Given the description of an element on the screen output the (x, y) to click on. 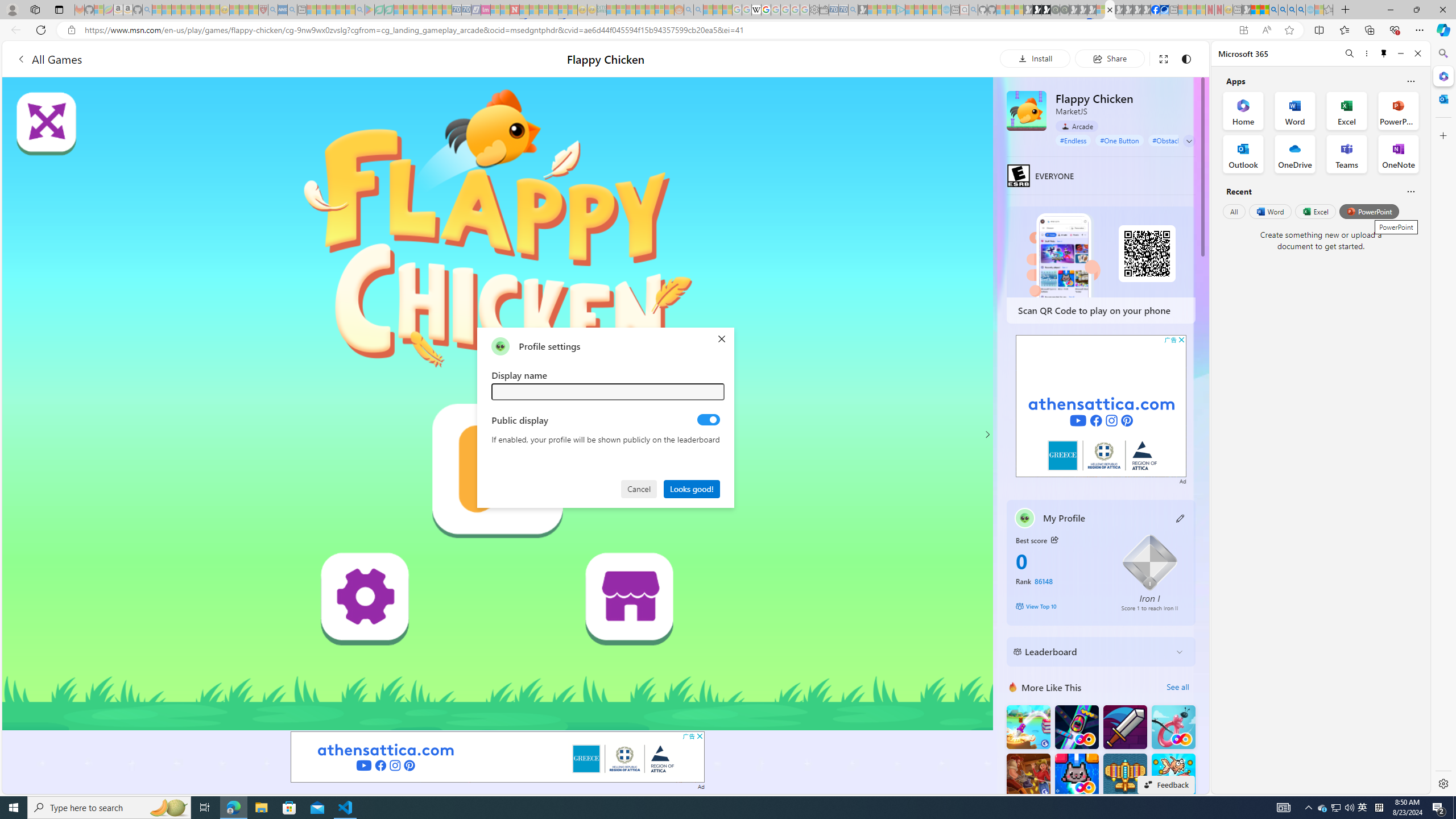
Home Office App (1243, 110)
#Obstacle Course (1178, 140)
MSNBC - MSN - Sleeping (611, 9)
MSN - Sleeping (1246, 9)
